Given the description of an element on the screen output the (x, y) to click on. 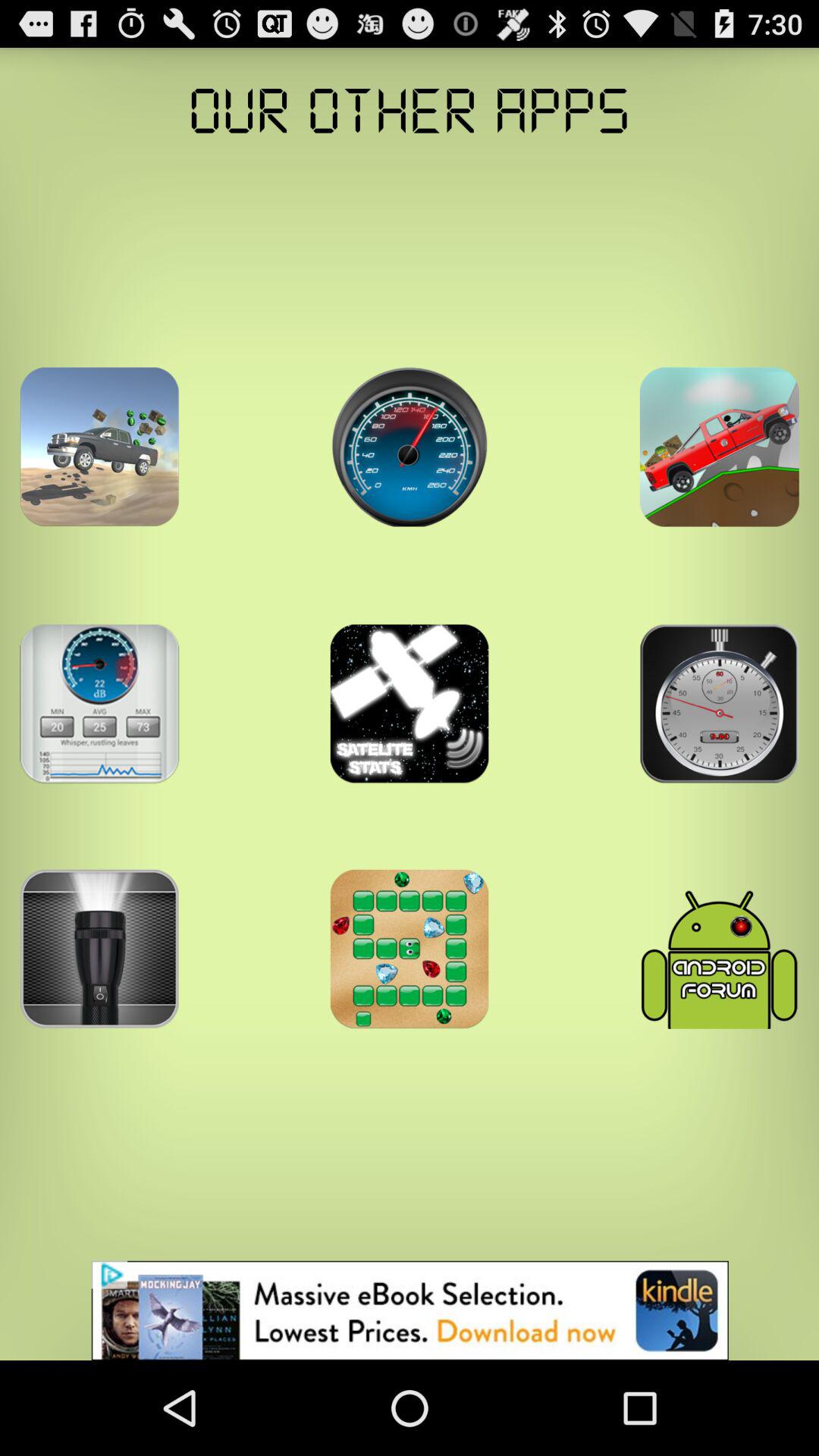
click the clock (719, 703)
